Given the description of an element on the screen output the (x, y) to click on. 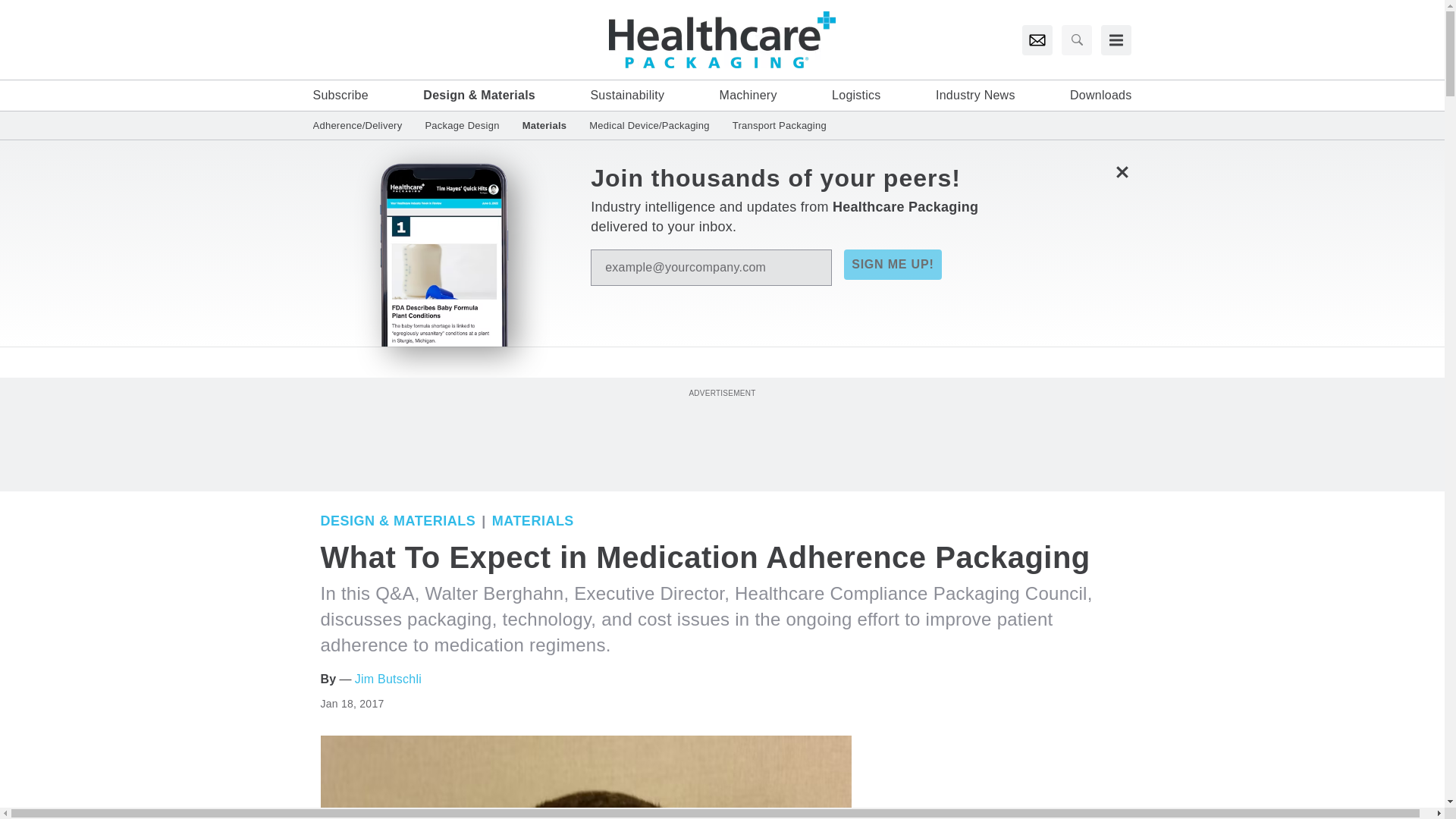
Materials (544, 125)
Transport Packaging (773, 125)
Machinery (748, 95)
Package Design (462, 125)
Industry News (975, 95)
Sustainability (626, 95)
Downloads (1100, 95)
SIGN ME UP! (892, 264)
Materials (532, 520)
Logistics (855, 95)
Subscribe (340, 95)
